Given the description of an element on the screen output the (x, y) to click on. 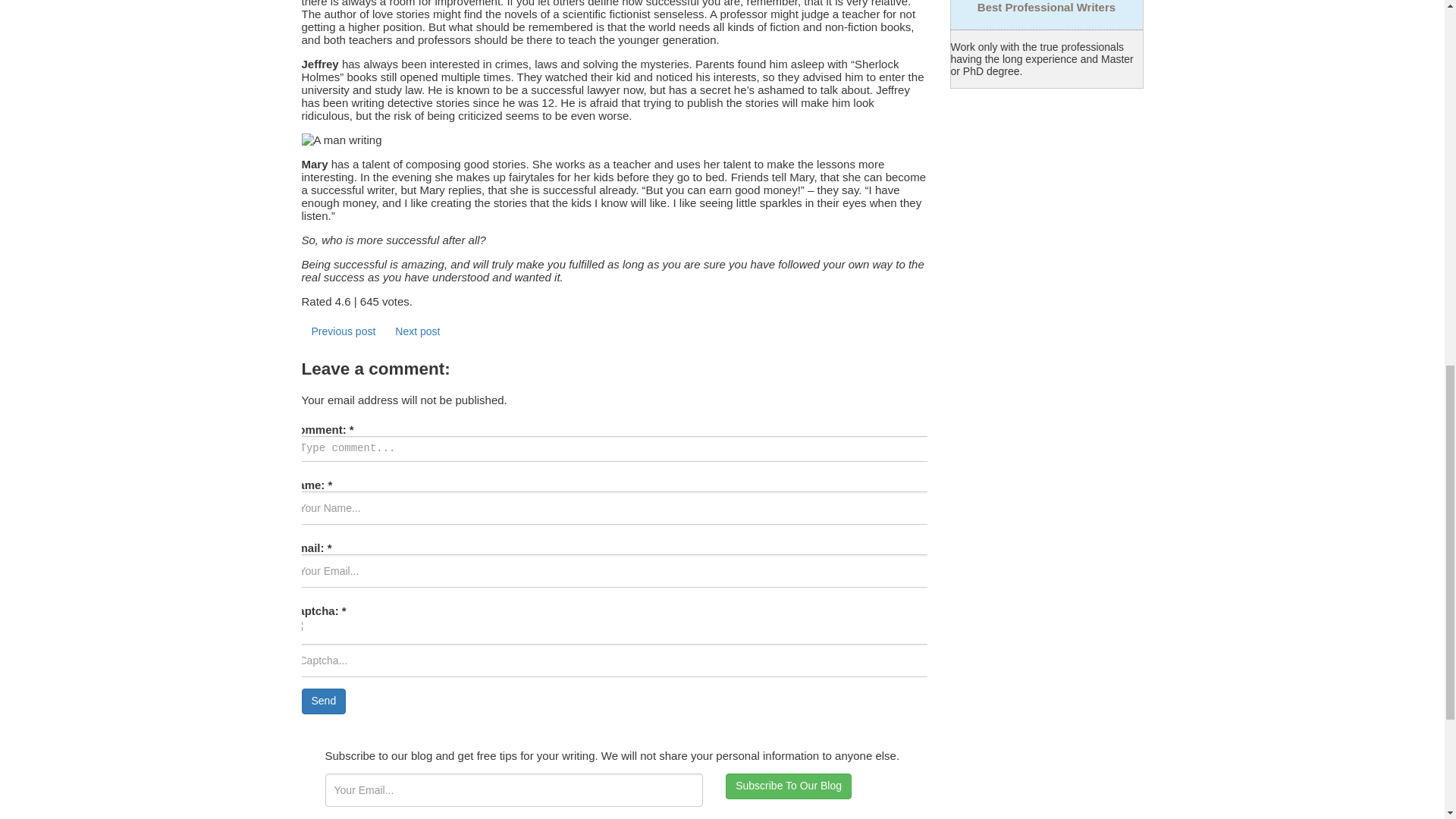
Previous post (343, 331)
Send (323, 701)
Subscribe To Our Blog (788, 786)
Next post (417, 331)
